Given the description of an element on the screen output the (x, y) to click on. 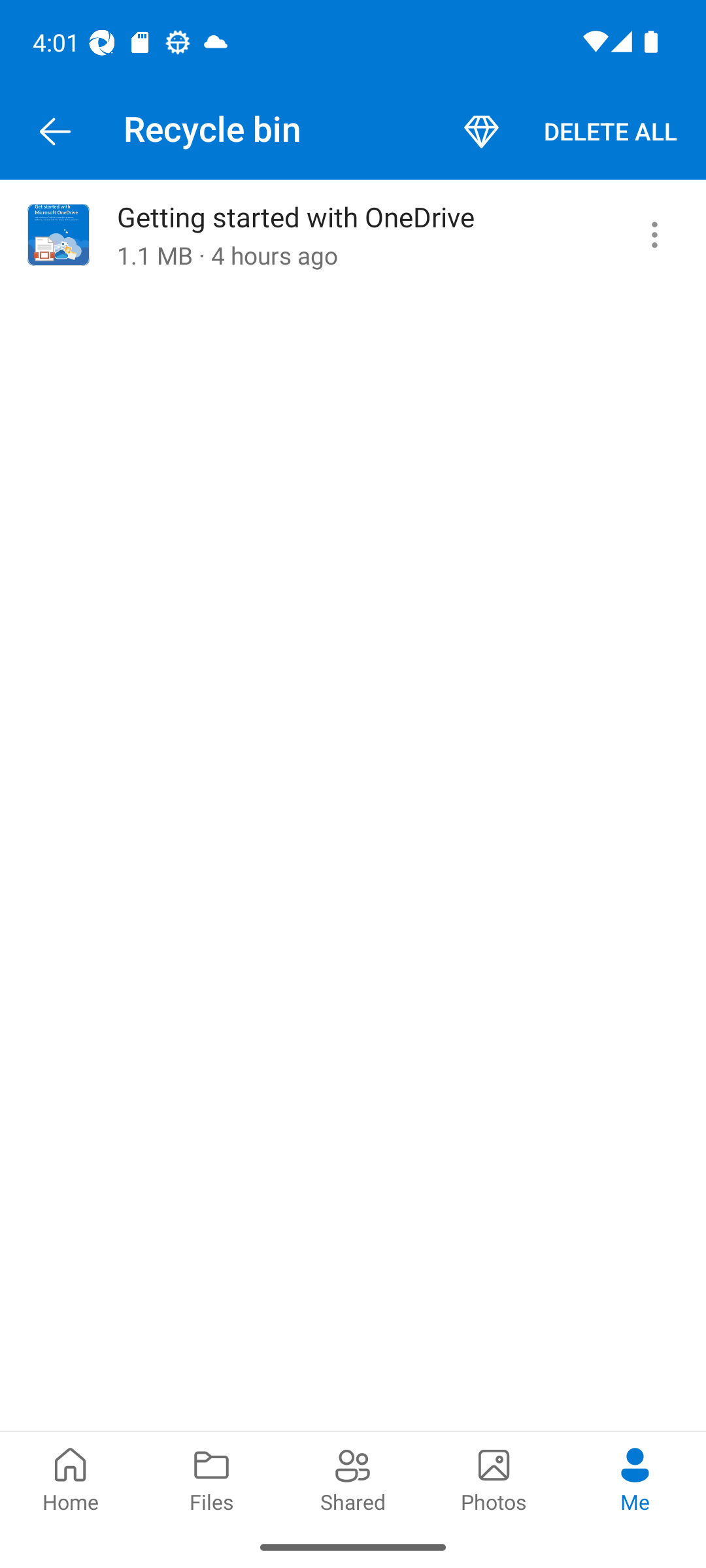
Navigate Up (55, 131)
Premium button (481, 131)
DELETE ALL Delete all button (610, 131)
Getting started with OneDrive commands (654, 235)
Home pivot Home (70, 1478)
Files pivot Files (211, 1478)
Shared pivot Shared (352, 1478)
Photos pivot Photos (493, 1478)
